Given the description of an element on the screen output the (x, y) to click on. 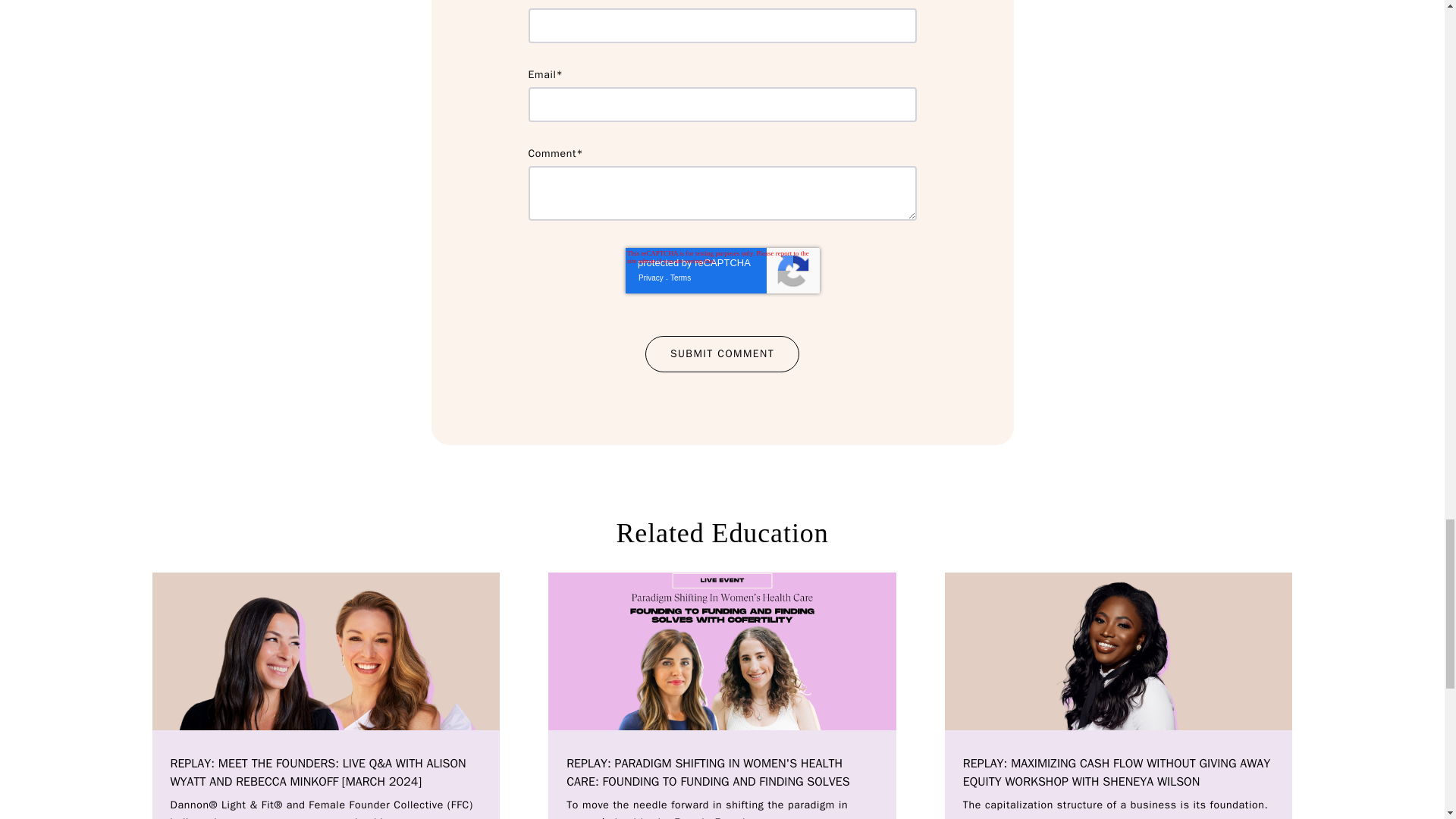
Submit Comment (722, 353)
Submit Comment (722, 353)
reCAPTCHA (721, 270)
